Given the description of an element on the screen output the (x, y) to click on. 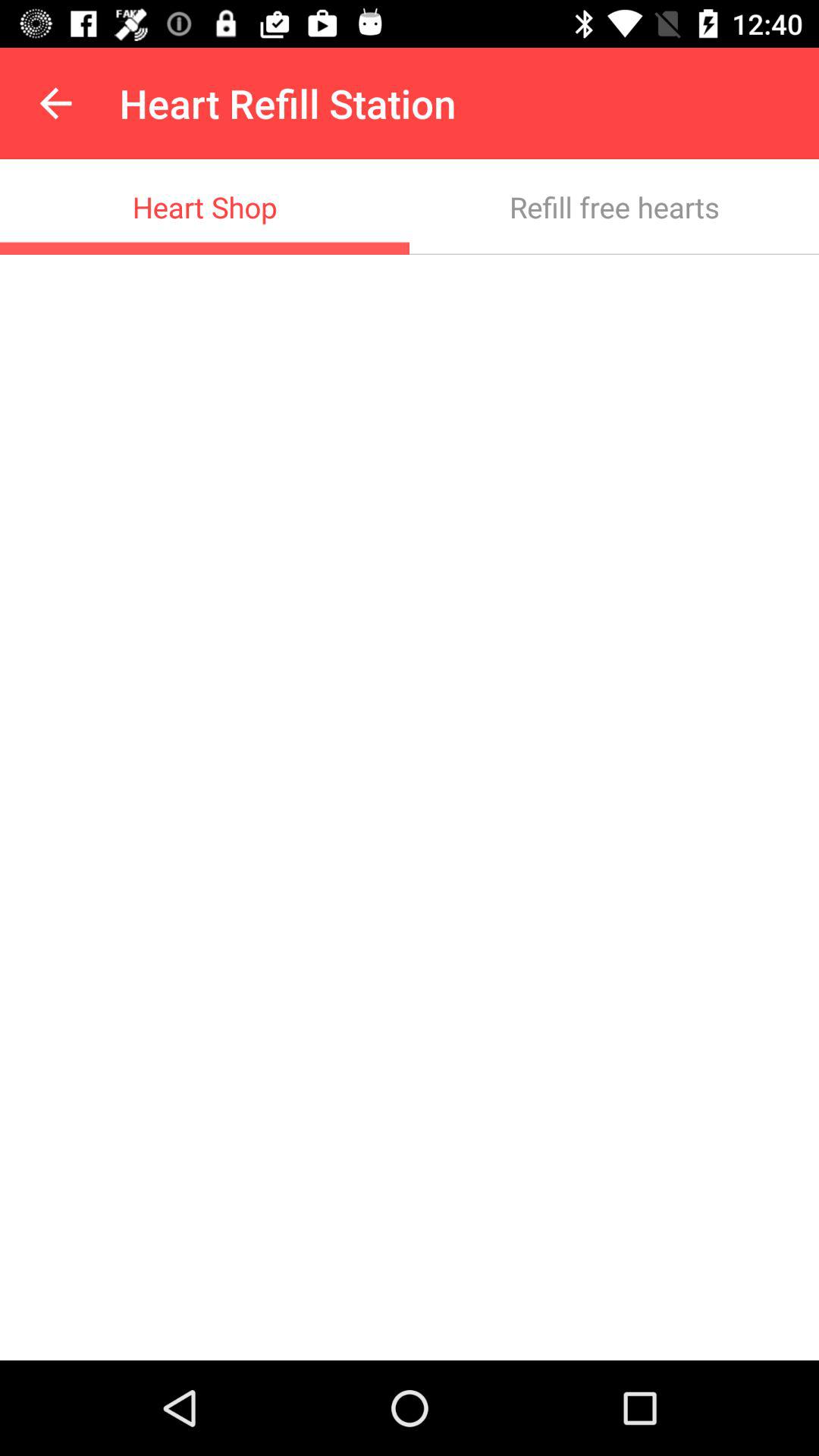
click the icon to the right of the heart shop item (614, 206)
